Given the description of an element on the screen output the (x, y) to click on. 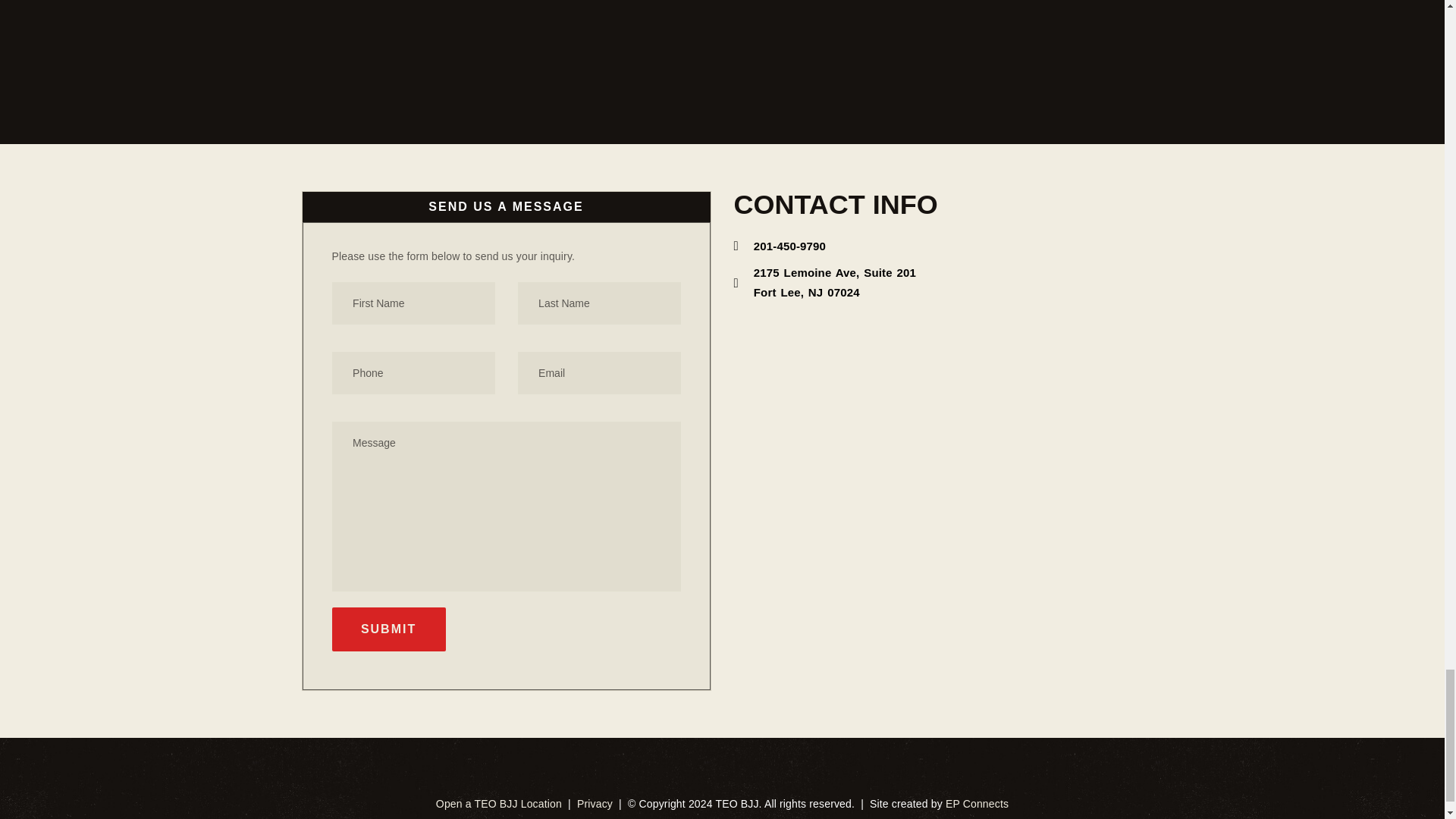
submit (388, 628)
